Given the description of an element on the screen output the (x, y) to click on. 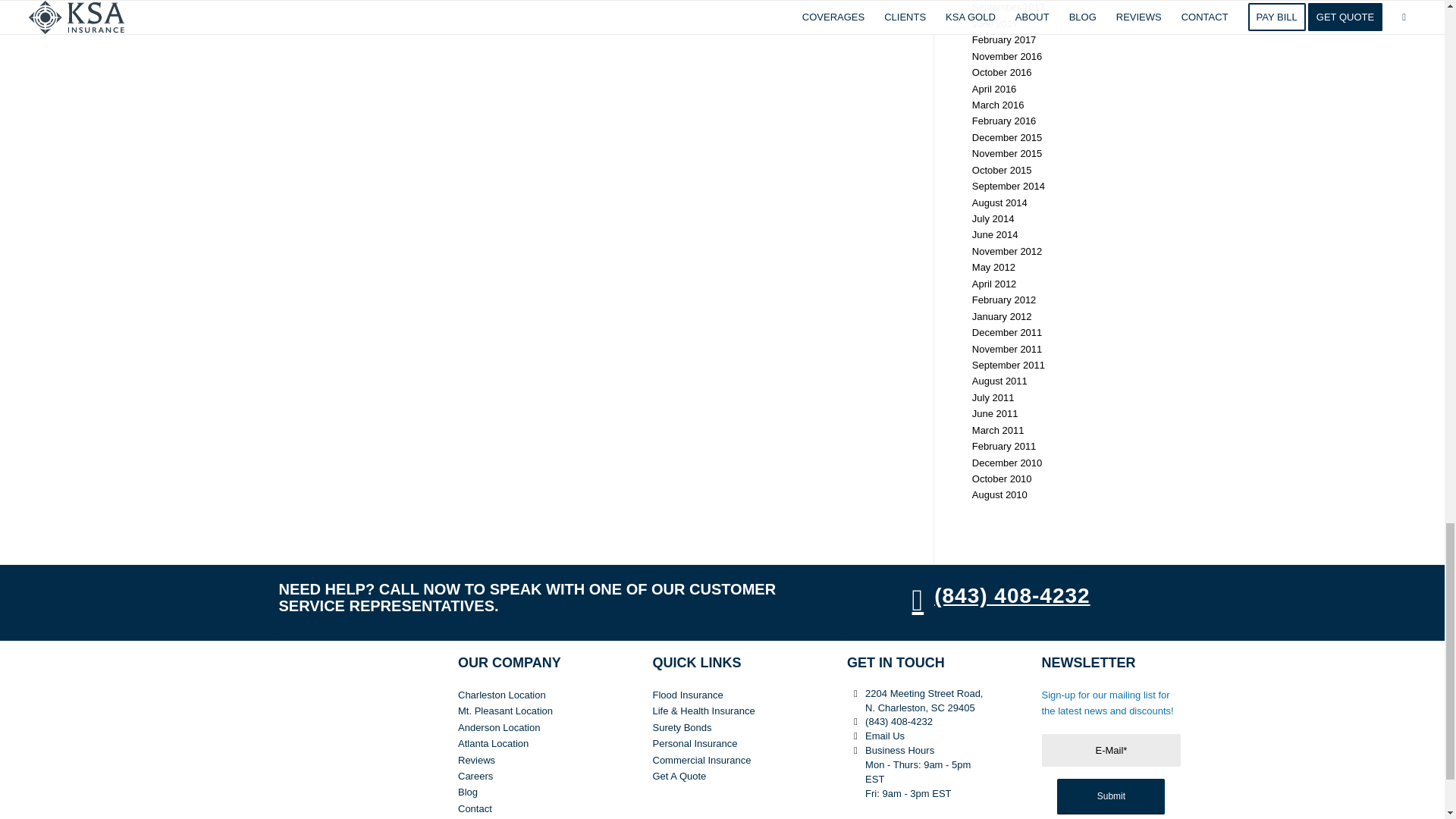
Submit (1110, 796)
Asset 19ksa-min (333, 725)
2204 Meeting Street Road, N. Charleston, SC 29405 (855, 694)
